Given the description of an element on the screen output the (x, y) to click on. 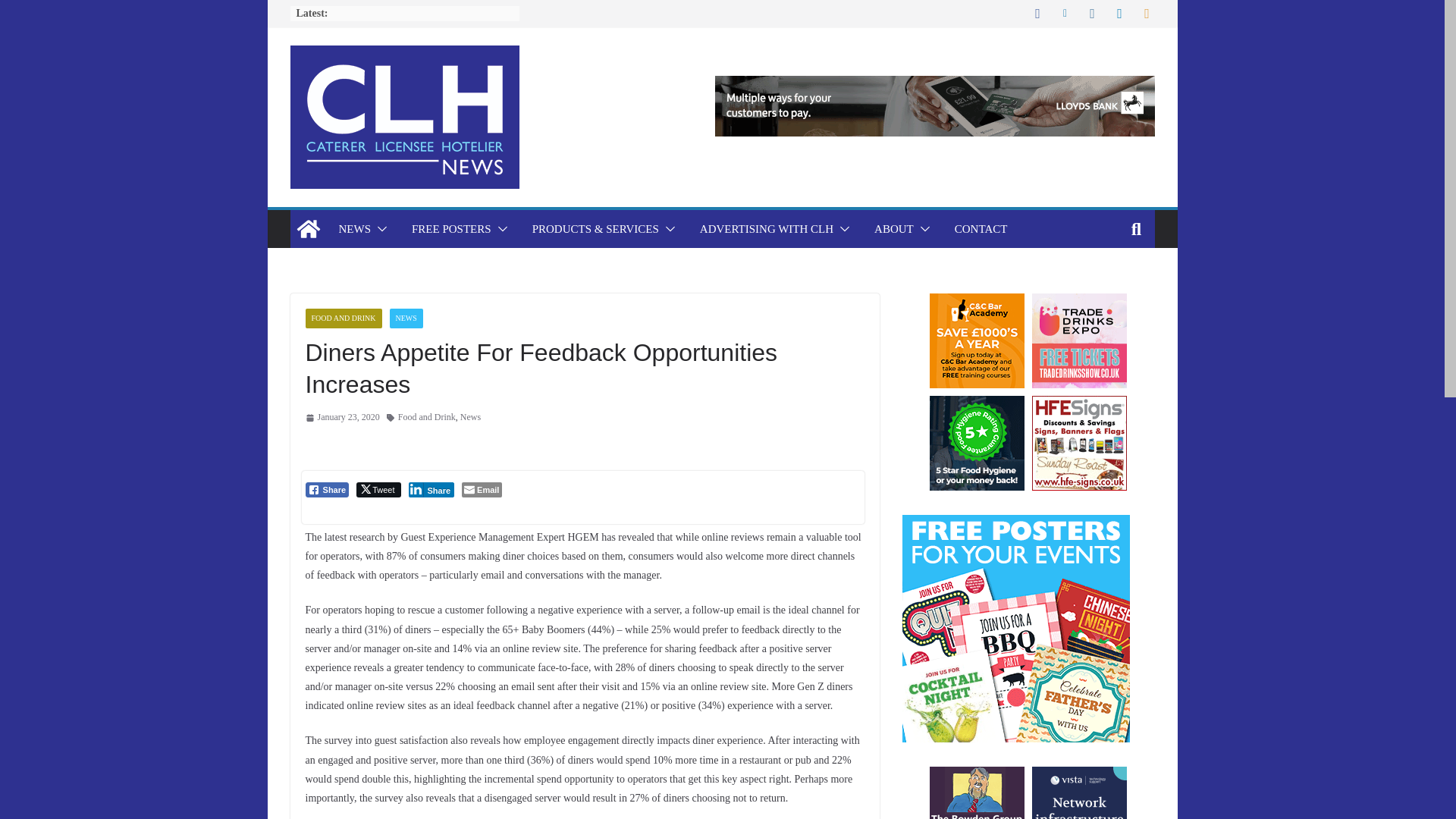
FREE POSTERS (452, 228)
12:02 pm (341, 417)
CLH News: Caterer, Licensee and Hotelier News (307, 228)
NEWS (354, 228)
